Given the description of an element on the screen output the (x, y) to click on. 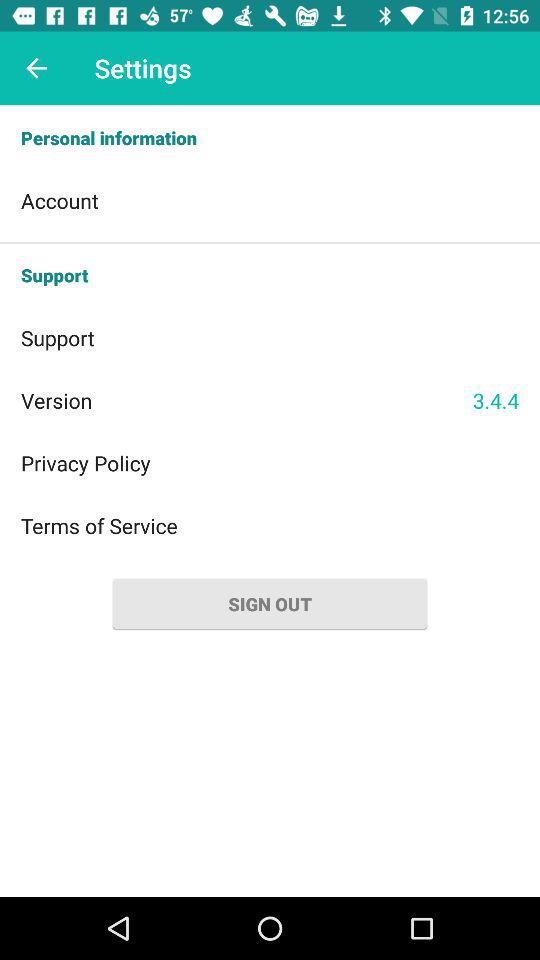
select the icon above terms of service item (270, 462)
